Given the description of an element on the screen output the (x, y) to click on. 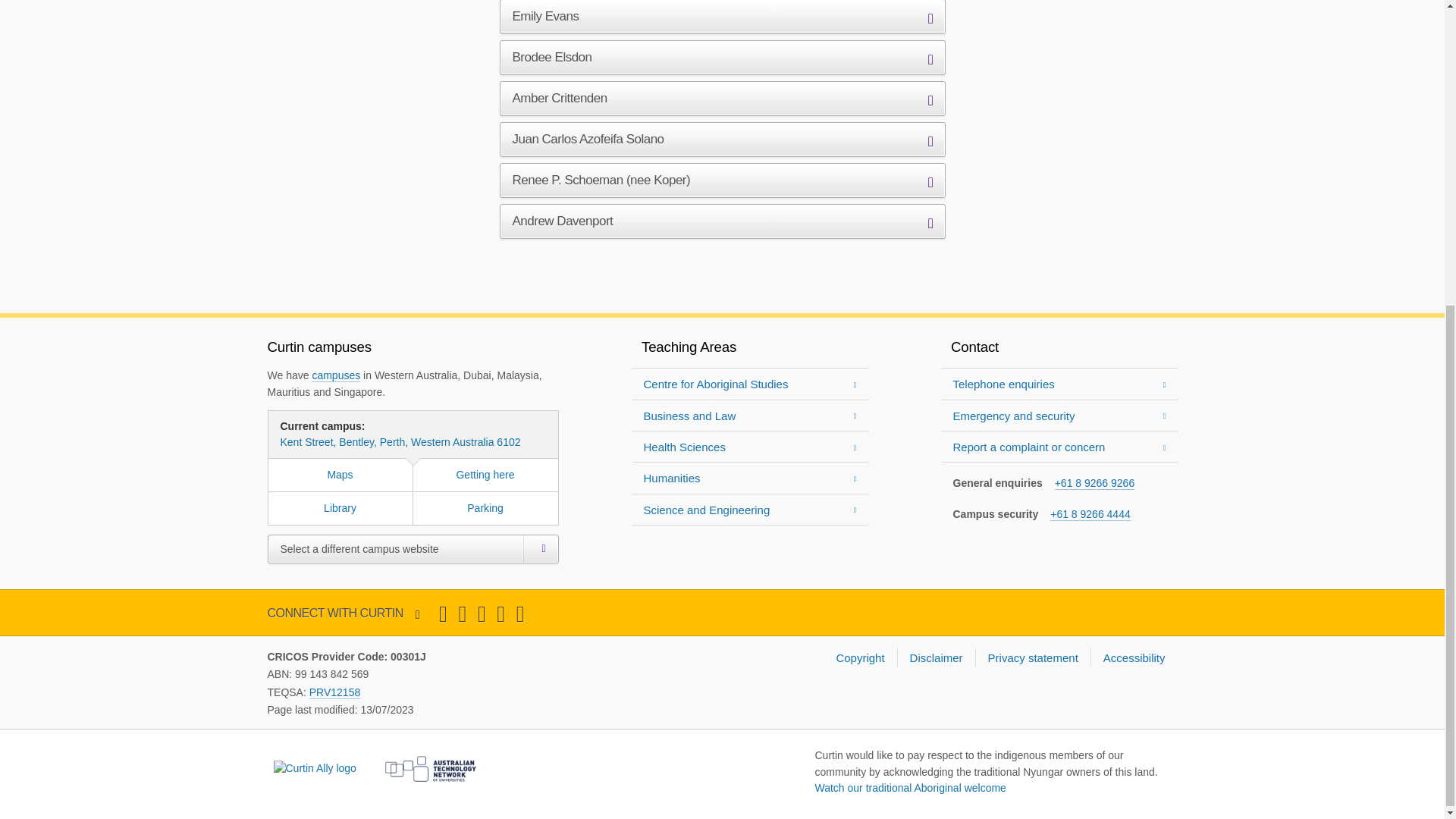
View our campuses (335, 375)
Visit Australian Technology Network of Universities website (430, 768)
View Google Maps (412, 435)
